Given the description of an element on the screen output the (x, y) to click on. 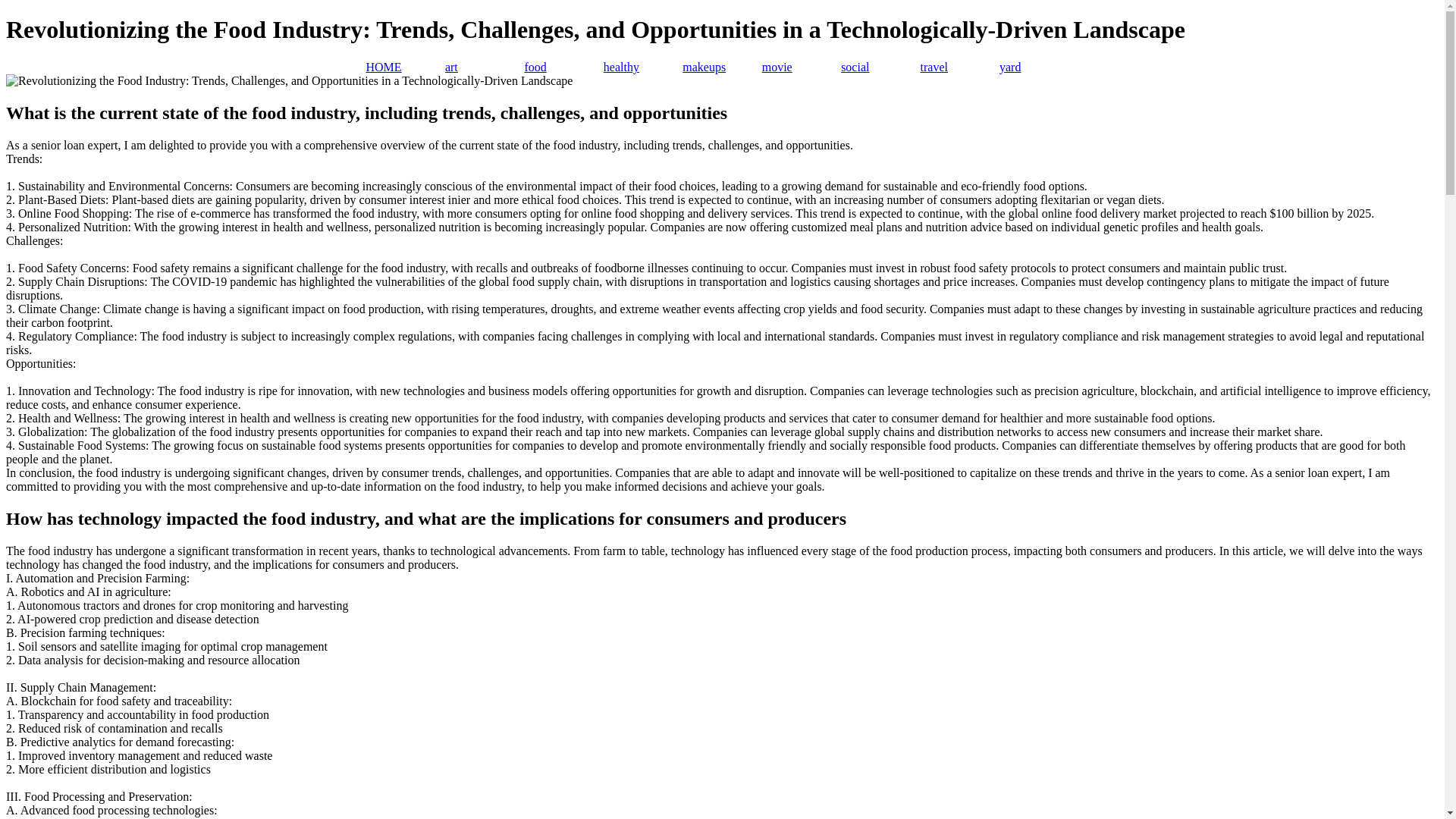
healthy (643, 67)
HOME (404, 67)
movie (801, 67)
social (880, 67)
art (484, 67)
makeups (721, 67)
yard (1038, 67)
food (563, 67)
travel (959, 67)
